Given the description of an element on the screen output the (x, y) to click on. 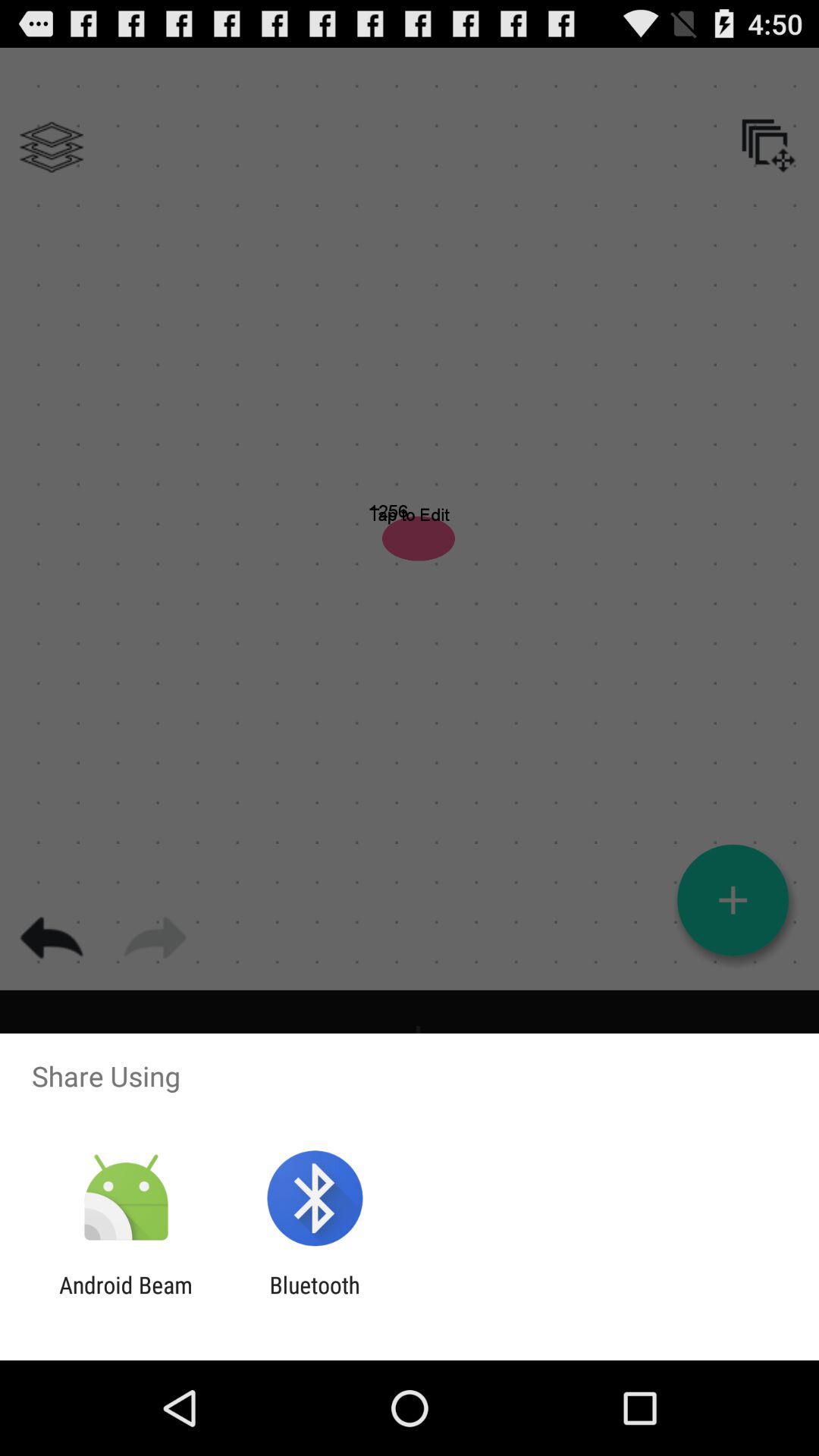
jump until the android beam (125, 1298)
